Given the description of an element on the screen output the (x, y) to click on. 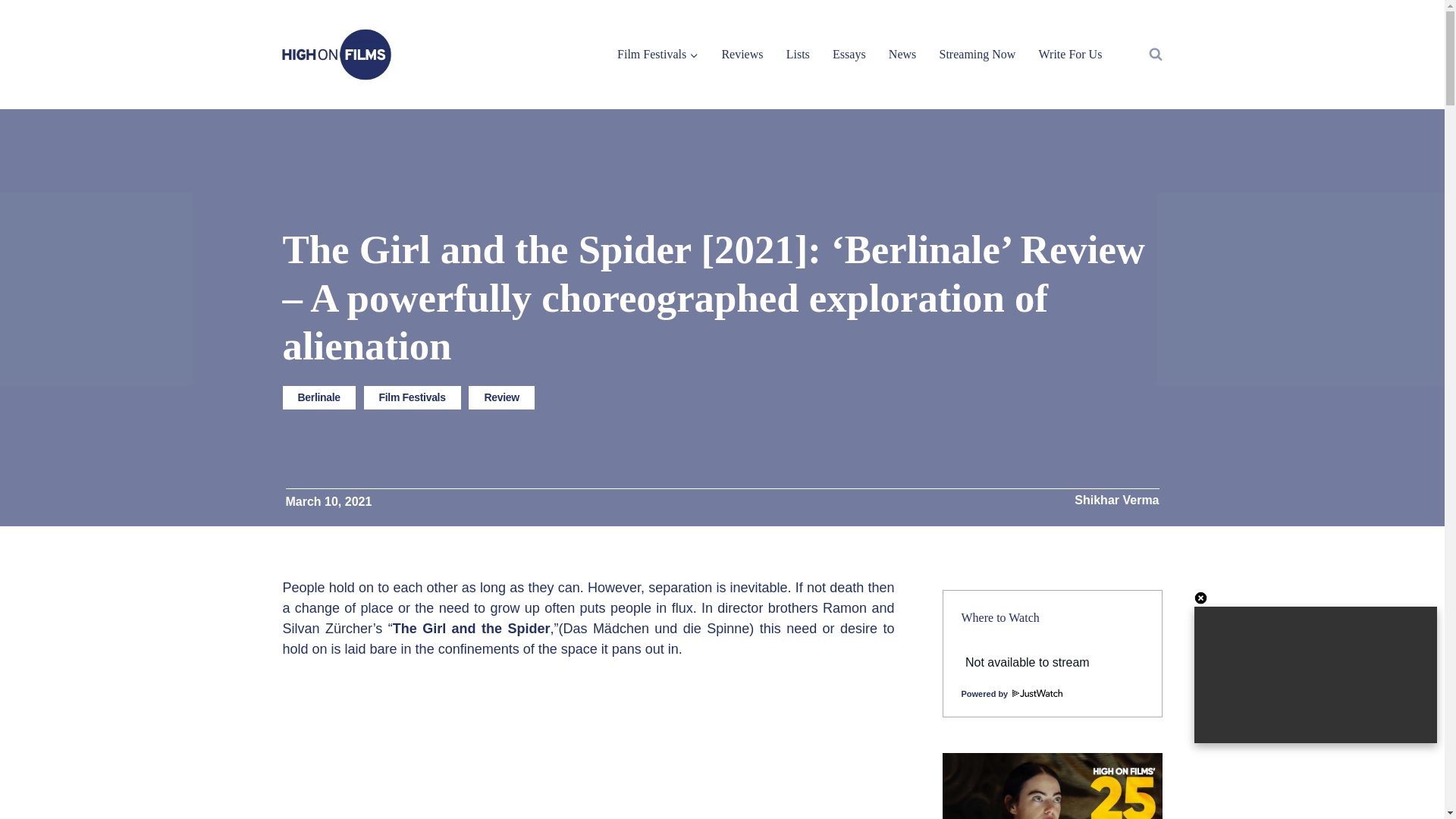
Lists (797, 53)
News (902, 53)
Film Festivals (657, 53)
Film Festivals (412, 397)
Review (501, 397)
Berlinale (318, 397)
Write For Us (1069, 53)
Essays (849, 53)
Streaming Now (976, 53)
Reviews (742, 53)
Shikhar Verma (1116, 499)
